Given the description of an element on the screen output the (x, y) to click on. 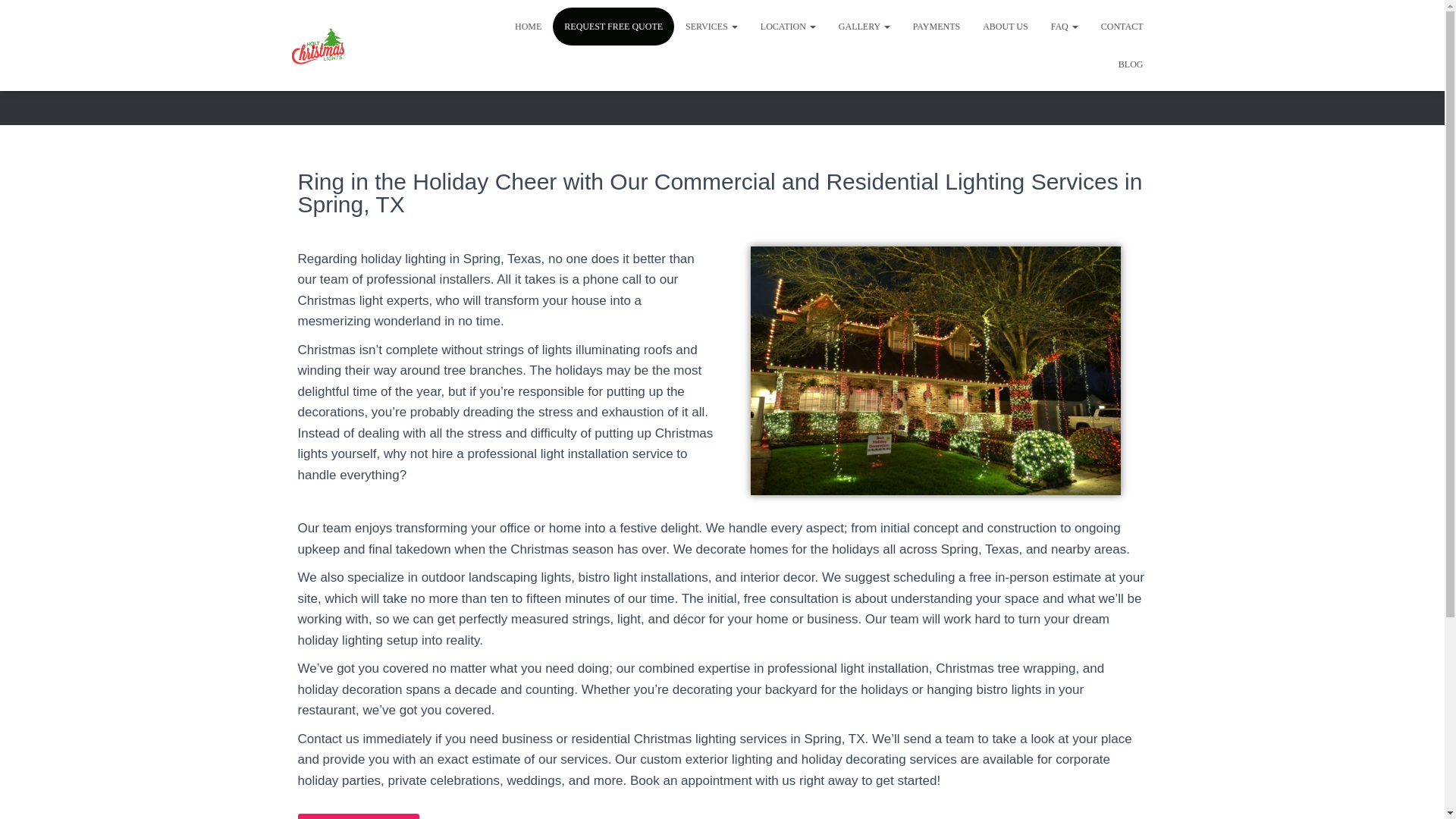
Location (788, 26)
Christmas Lights (318, 45)
LOCATION (788, 26)
Home (528, 26)
Services (711, 26)
SERVICES (711, 26)
REQUEST FREE QUOTE (613, 26)
HOME (528, 26)
REQUEST FREE QUOTE (613, 26)
